Given the description of an element on the screen output the (x, y) to click on. 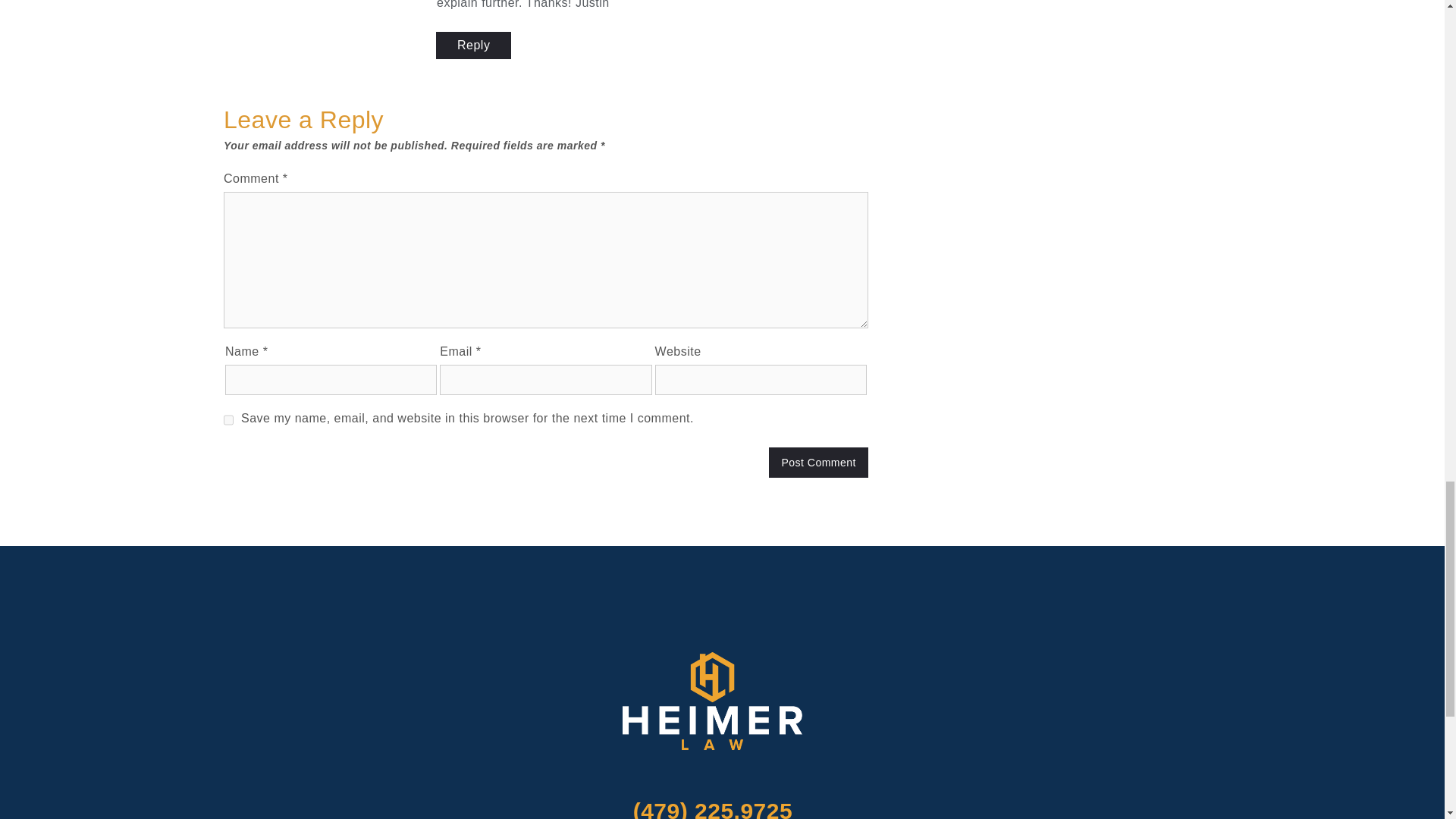
Reply (473, 44)
Post Comment (817, 462)
Post Comment (817, 462)
